Given the description of an element on the screen output the (x, y) to click on. 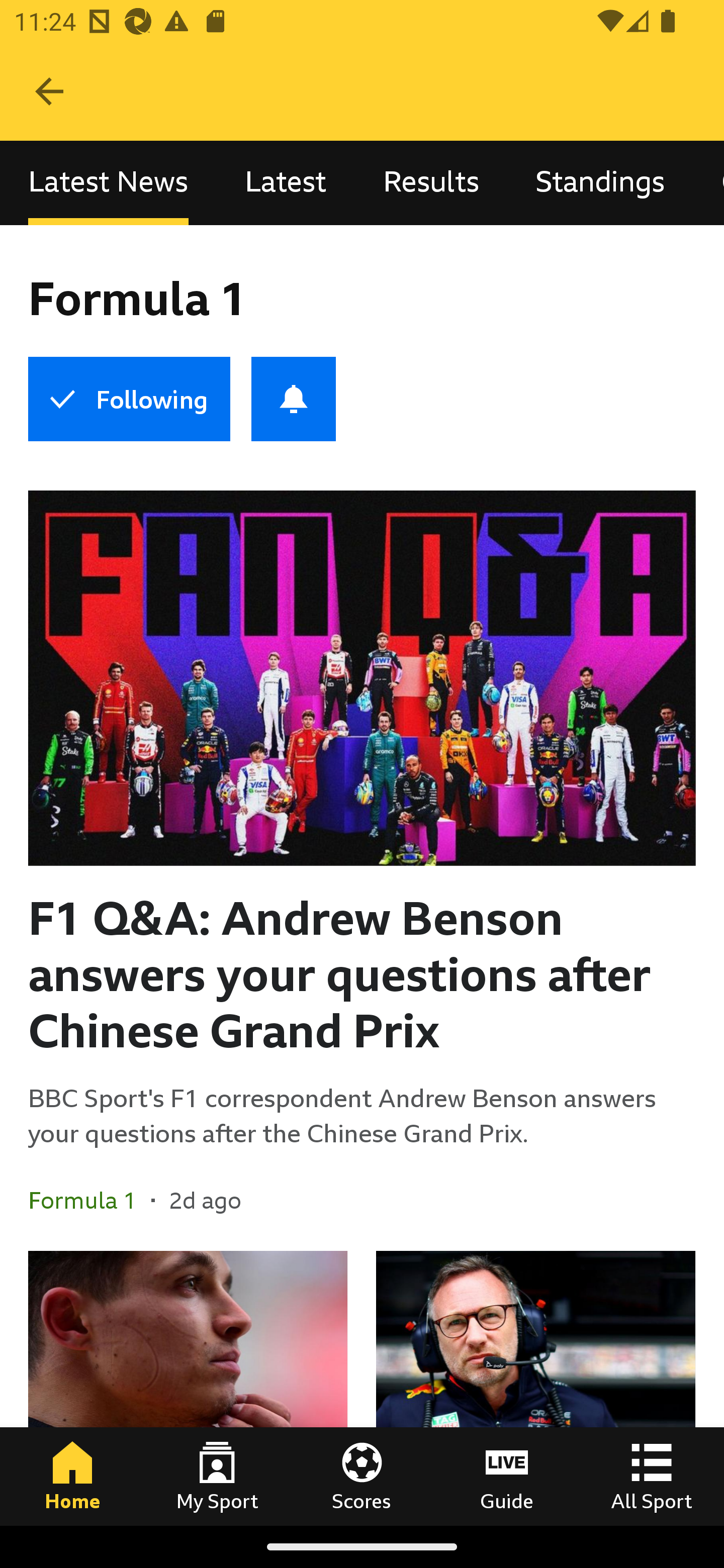
Navigate up (49, 91)
Latest News, selected Latest News (108, 183)
Latest (285, 183)
Results (430, 183)
Standings (600, 183)
Following Formula 1 Following (129, 398)
Push notifications for Formula 1 (293, 398)
Horner criticises Wolff over Verstappen comments (535, 1388)
My Sport (216, 1475)
Scores (361, 1475)
Guide (506, 1475)
All Sport (651, 1475)
